Given the description of an element on the screen output the (x, y) to click on. 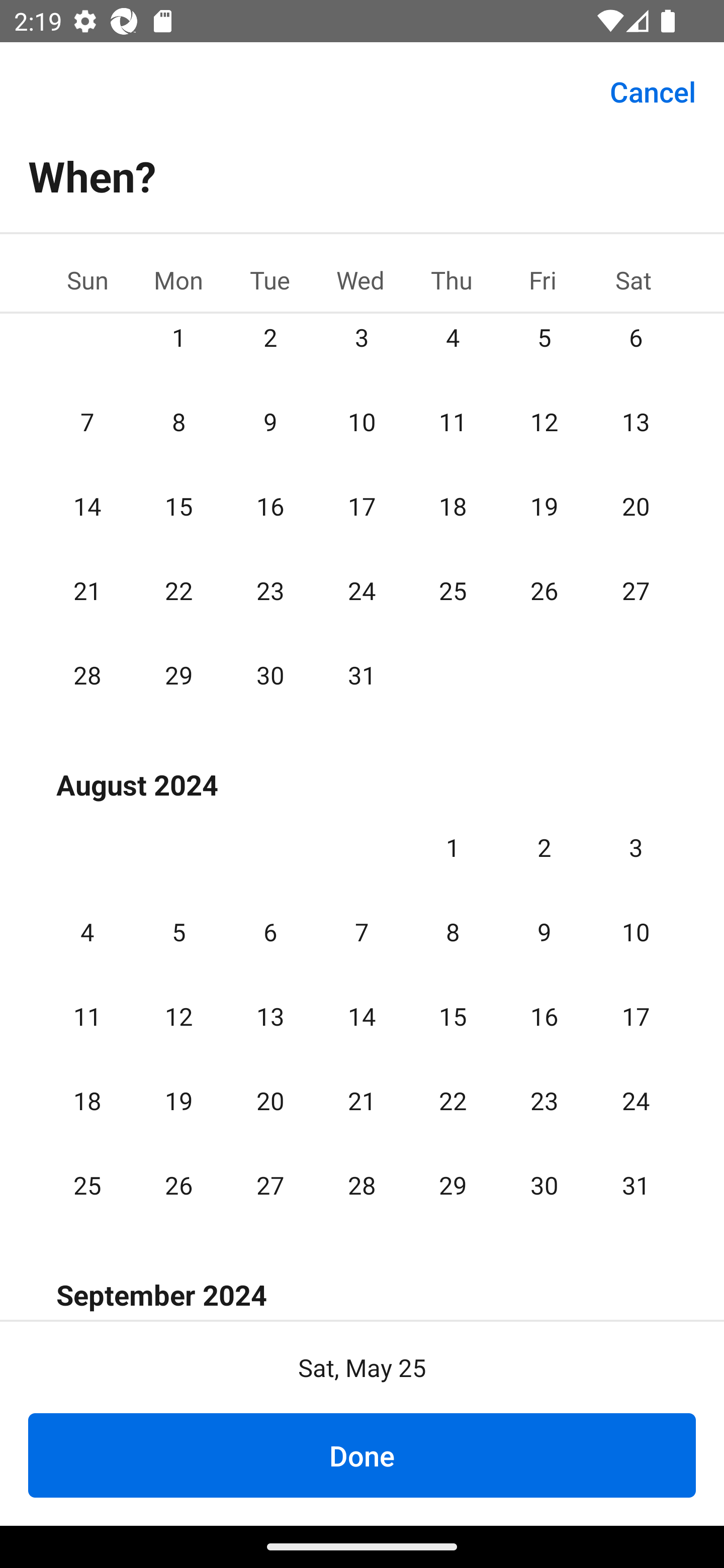
Cancel (652, 90)
Done (361, 1454)
